Given the description of an element on the screen output the (x, y) to click on. 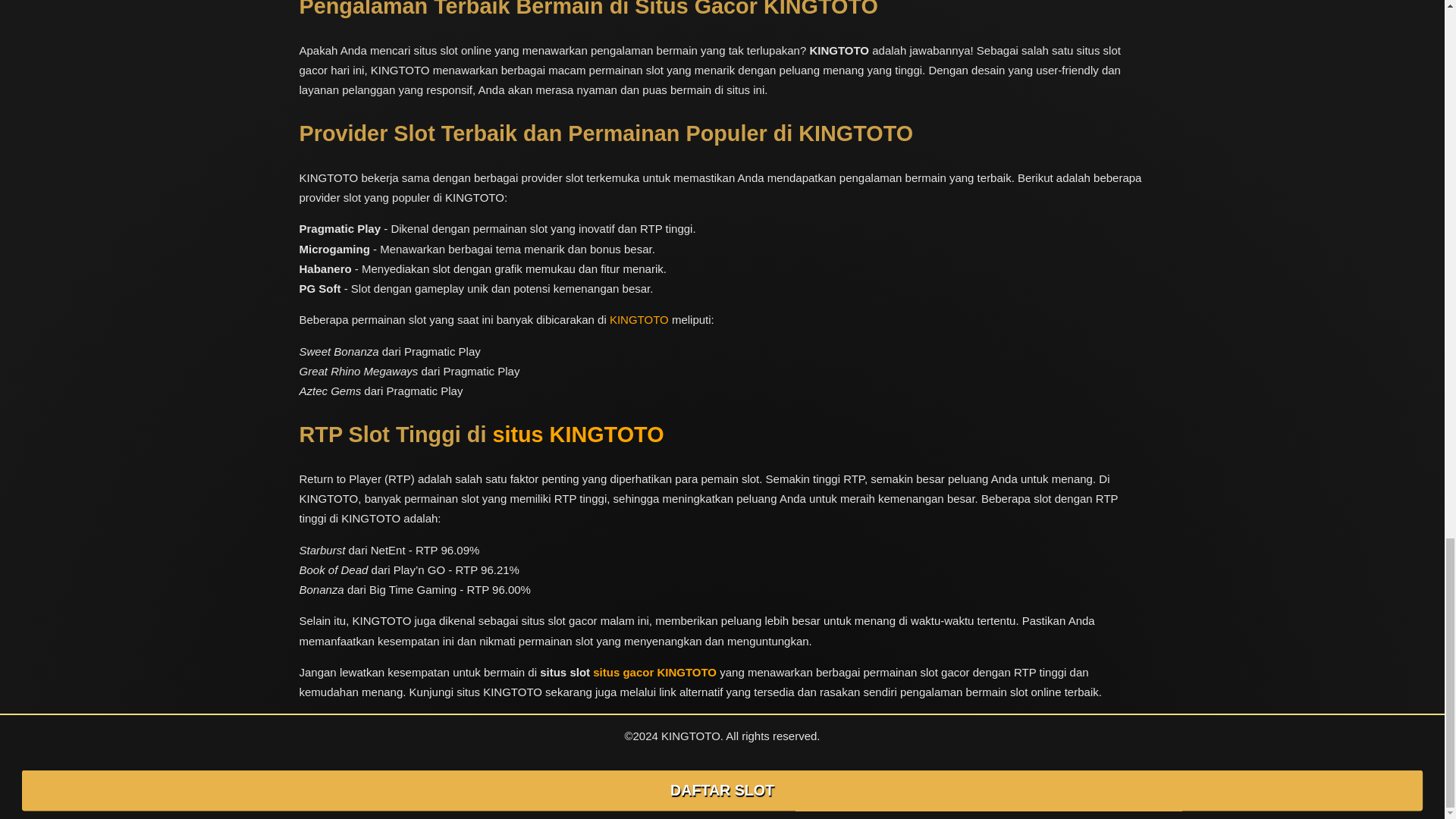
KINGTOTO (639, 320)
situs gacor KINGTOTO (654, 672)
situs KINGTOTO (577, 435)
